Given the description of an element on the screen output the (x, y) to click on. 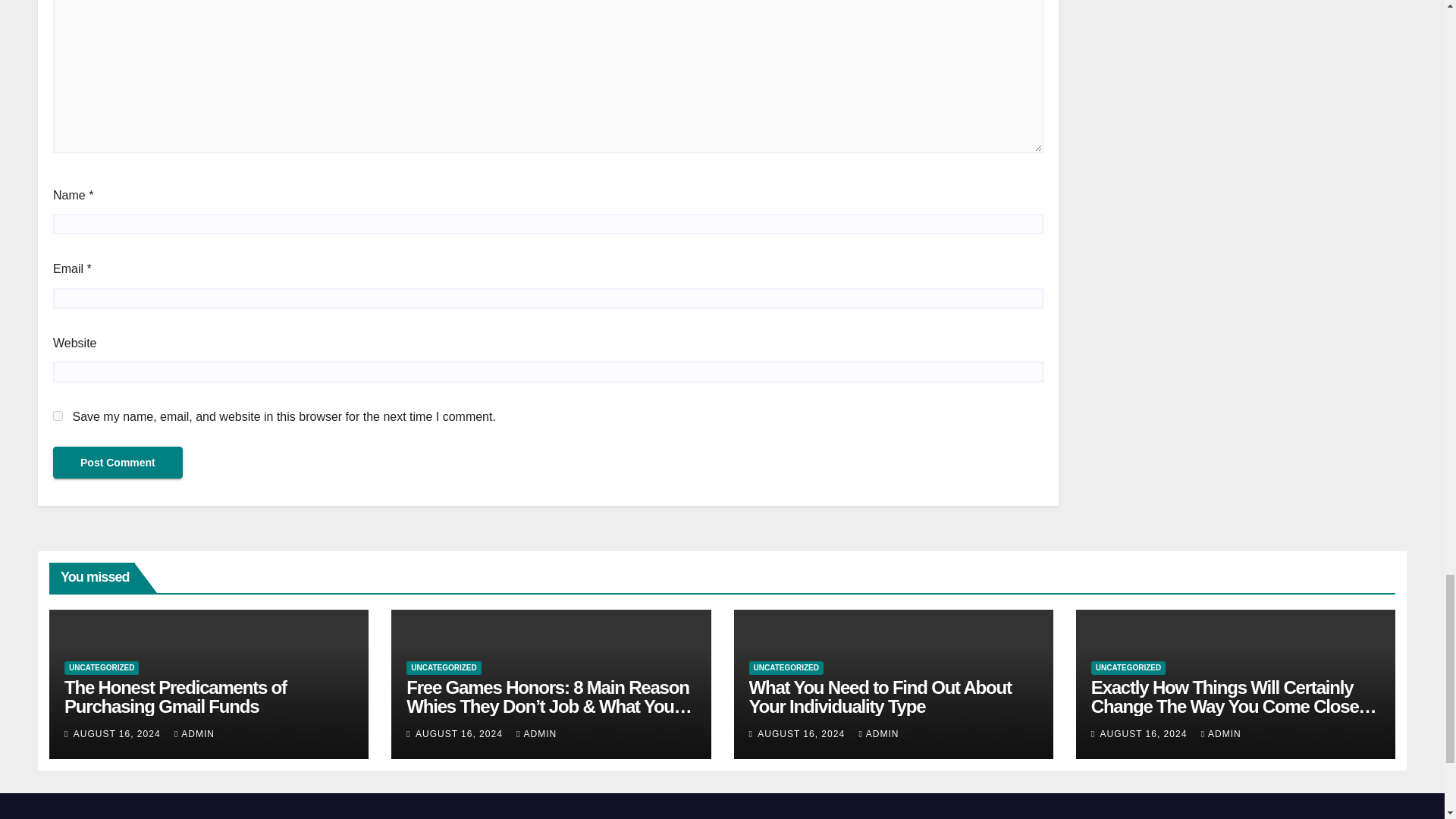
yes (57, 415)
Post Comment (117, 462)
Post Comment (117, 462)
